Given the description of an element on the screen output the (x, y) to click on. 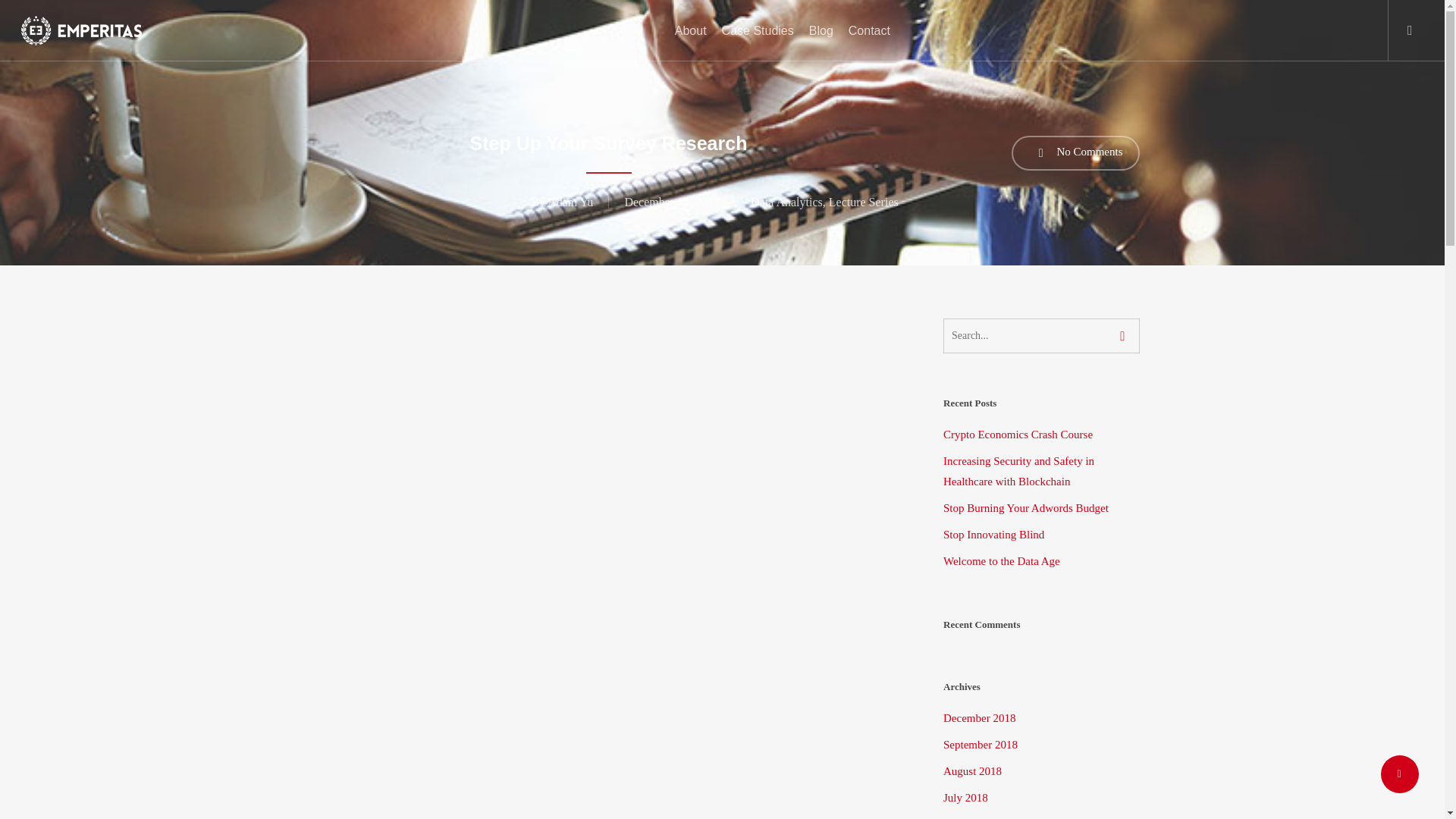
Case Studies (758, 30)
Blog (821, 30)
July 2018 (1041, 797)
Stop Innovating Blind (1041, 534)
June 2018 (1041, 816)
Crypto Economics Crash Course (1041, 435)
Stop Burning Your Adwords Budget (1041, 507)
Welcome to the Data Age (1041, 561)
August 2018 (1041, 771)
Increasing Security and Safety in Healthcare with Blockchain (1041, 471)
